Given the description of an element on the screen output the (x, y) to click on. 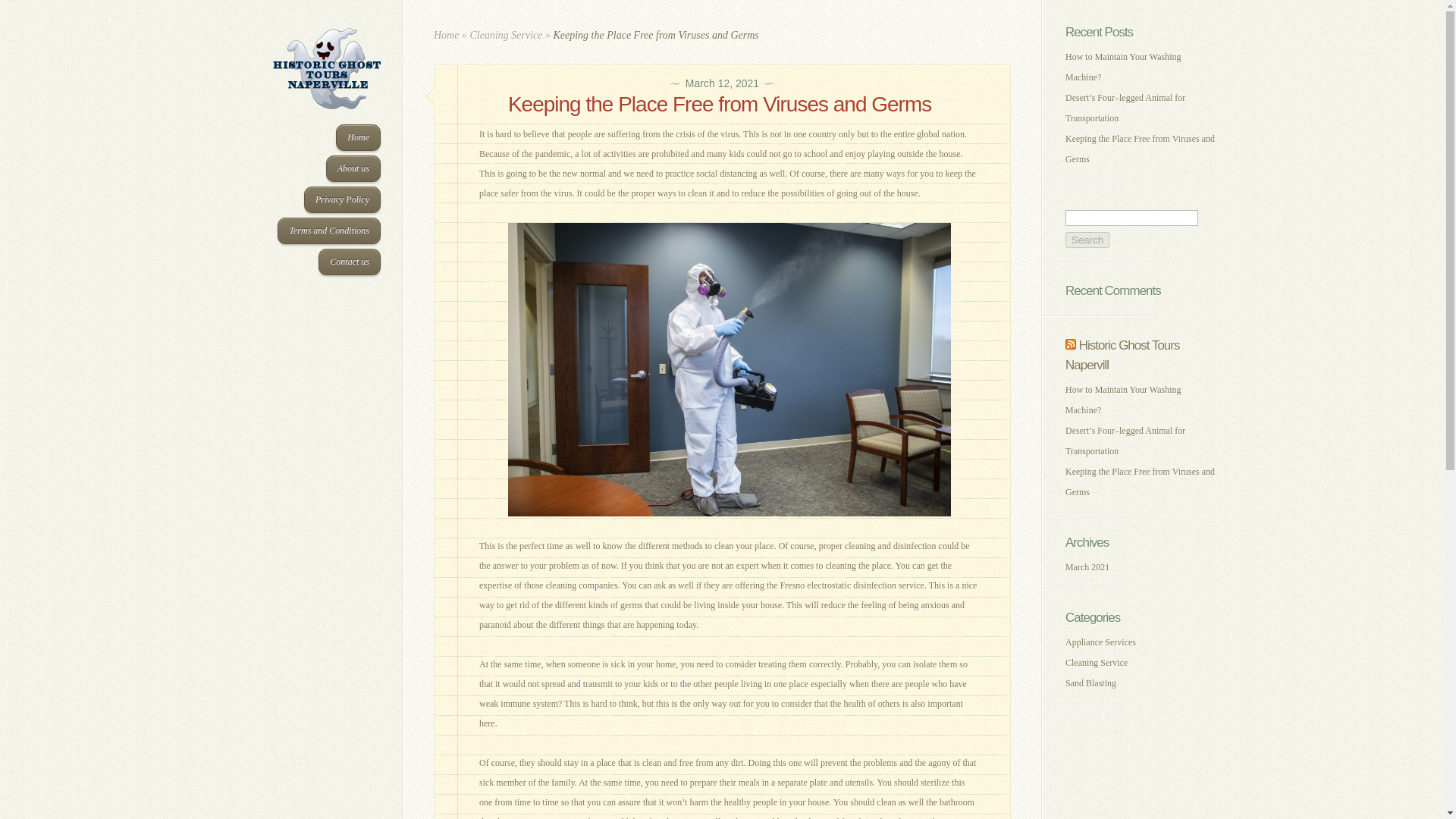
Search (1087, 239)
Keeping the Place Free from Viruses and Germs  (1139, 481)
How to Maintain Your Washing Machine? (1122, 66)
Home (358, 137)
Search (1087, 239)
Privacy Policy (342, 199)
Appliance Services (1100, 642)
Home (445, 34)
About us (353, 168)
Terms and Conditions (329, 230)
